Given the description of an element on the screen output the (x, y) to click on. 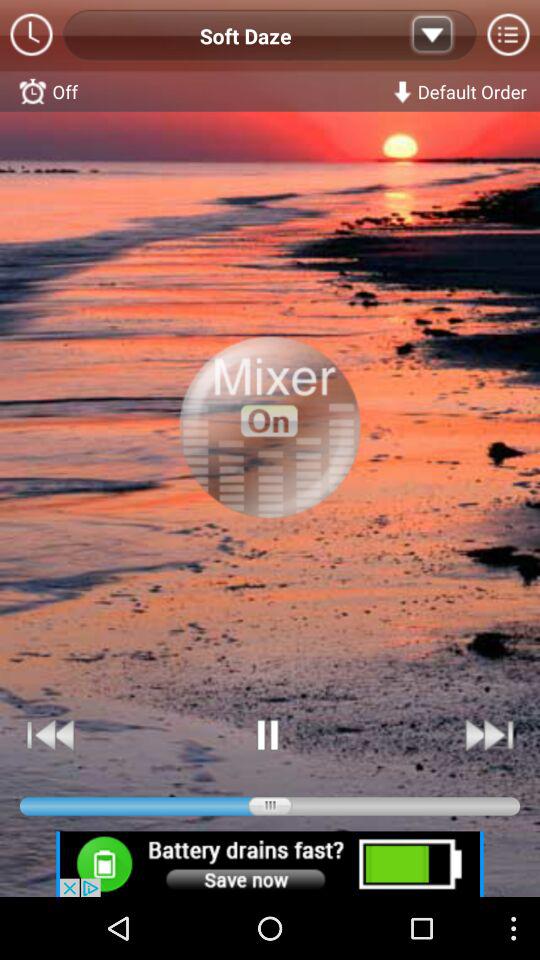
go to advertisement link (270, 864)
